Given the description of an element on the screen output the (x, y) to click on. 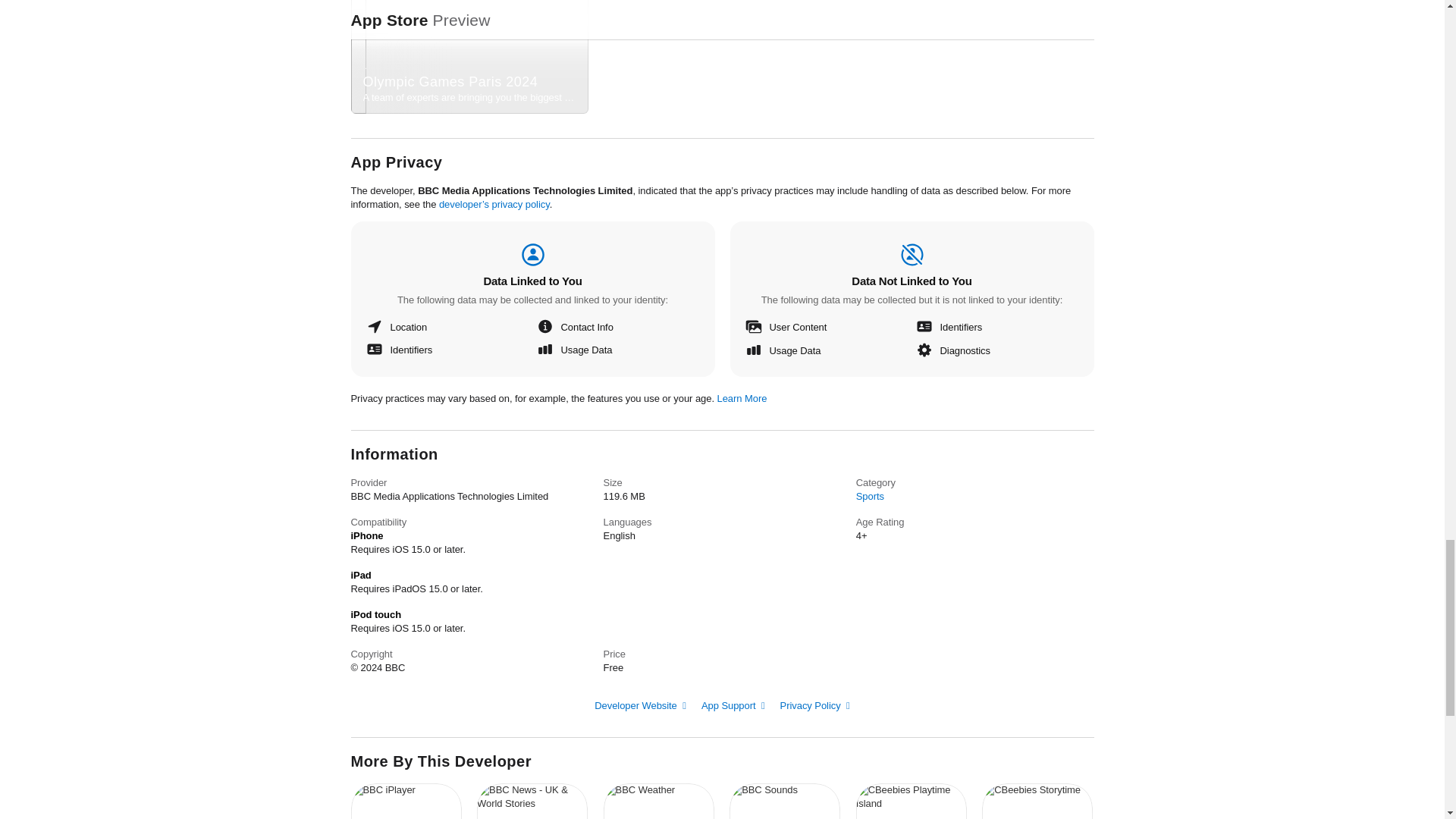
Learn More (1037, 800)
App Support (742, 398)
Developer Website (733, 705)
Sports (639, 705)
Privacy Policy (785, 800)
